Given the description of an element on the screen output the (x, y) to click on. 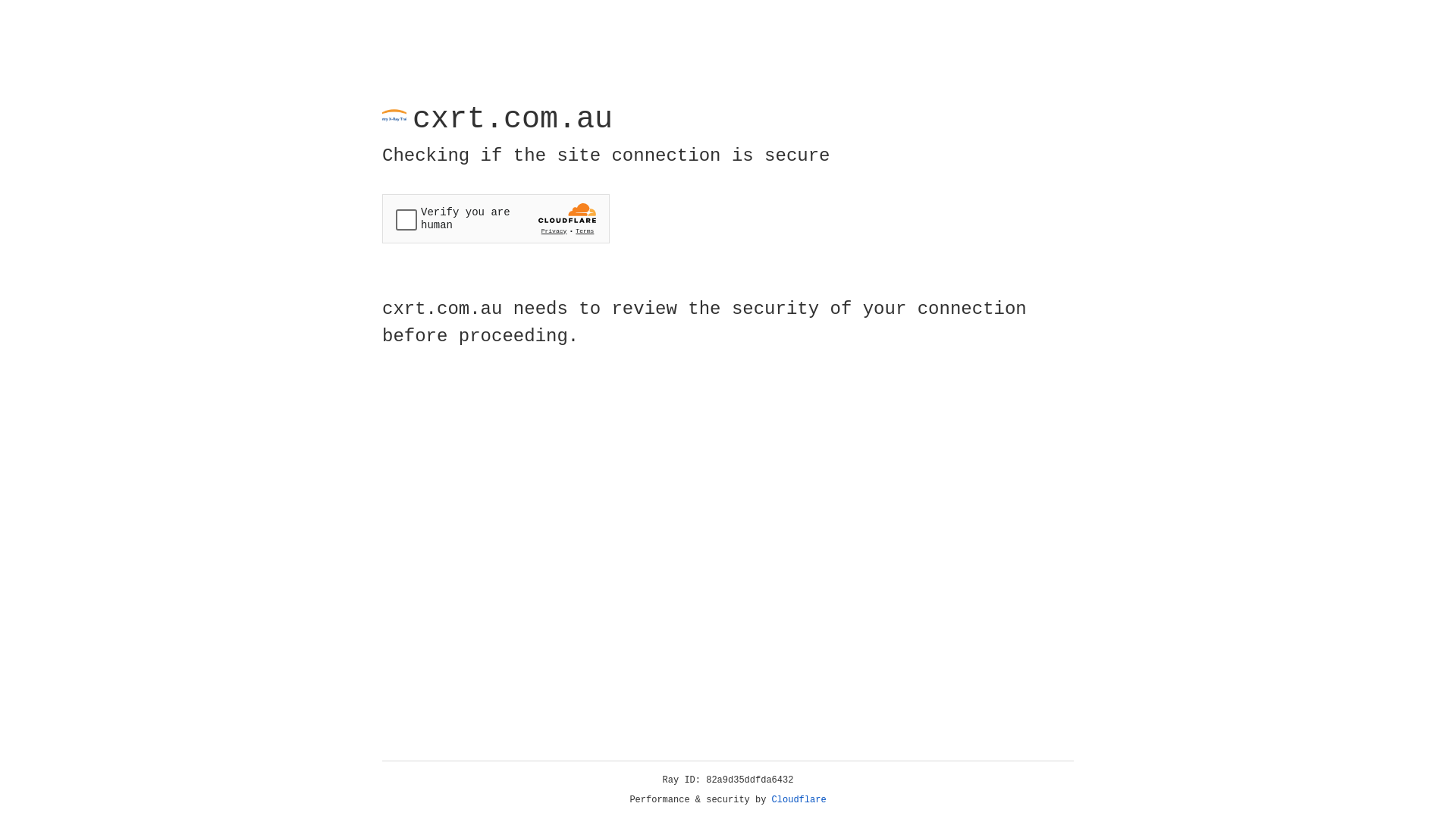
Widget containing a Cloudflare security challenge Element type: hover (495, 218)
Cloudflare Element type: text (798, 799)
